Given the description of an element on the screen output the (x, y) to click on. 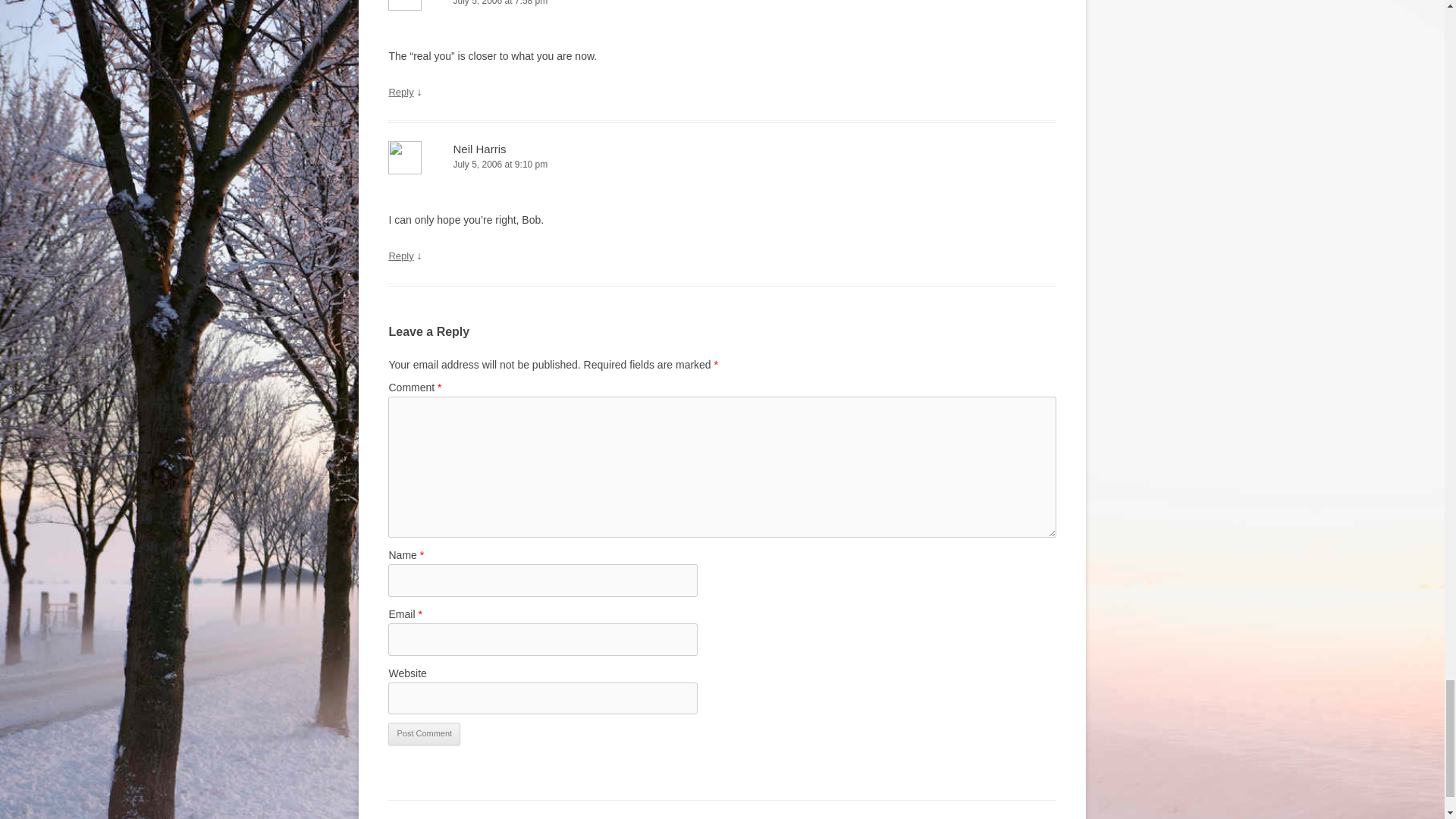
Post Comment (424, 733)
